Given the description of an element on the screen output the (x, y) to click on. 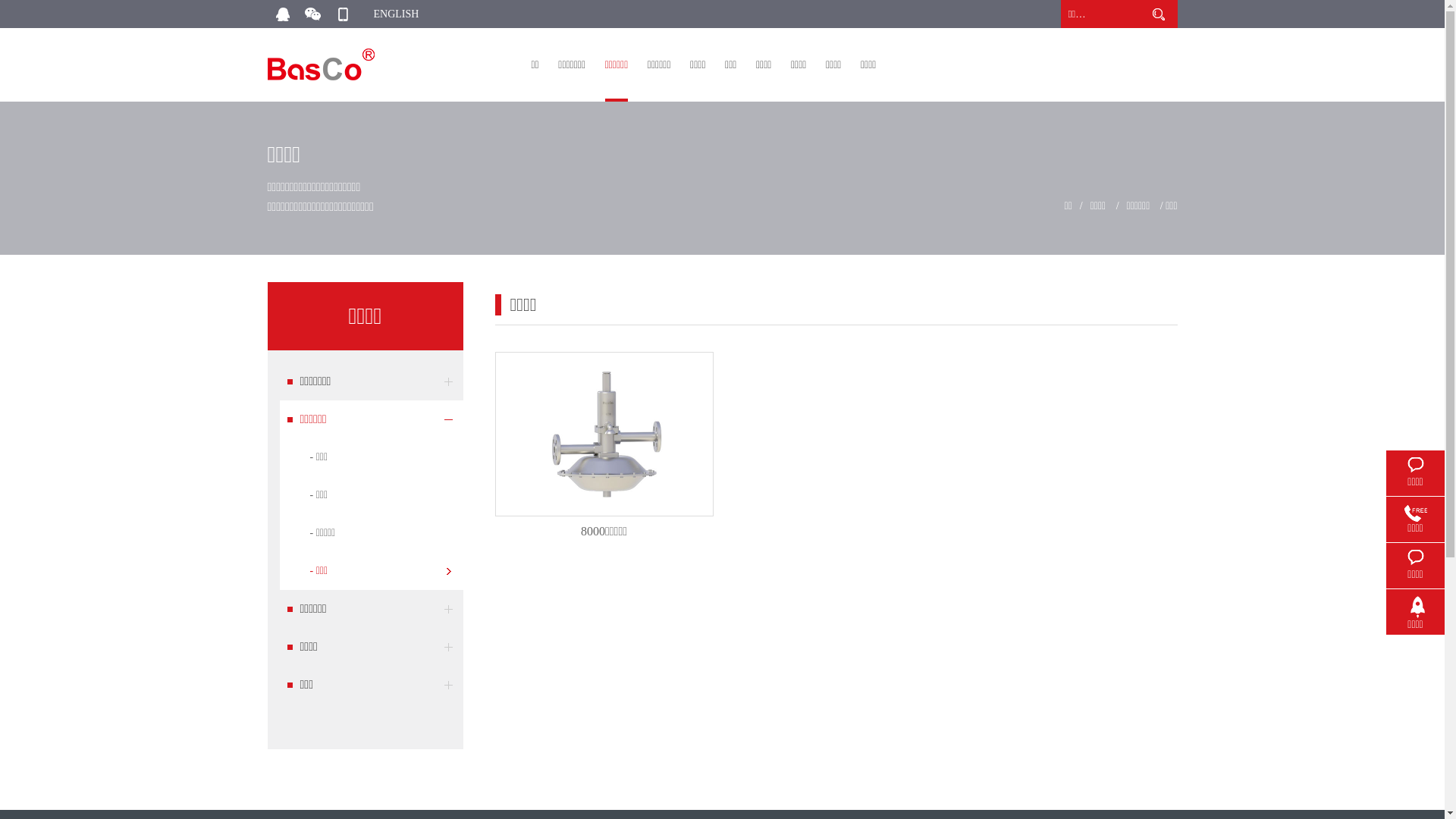
ENGLISH Element type: text (395, 14)
